Given the description of an element on the screen output the (x, y) to click on. 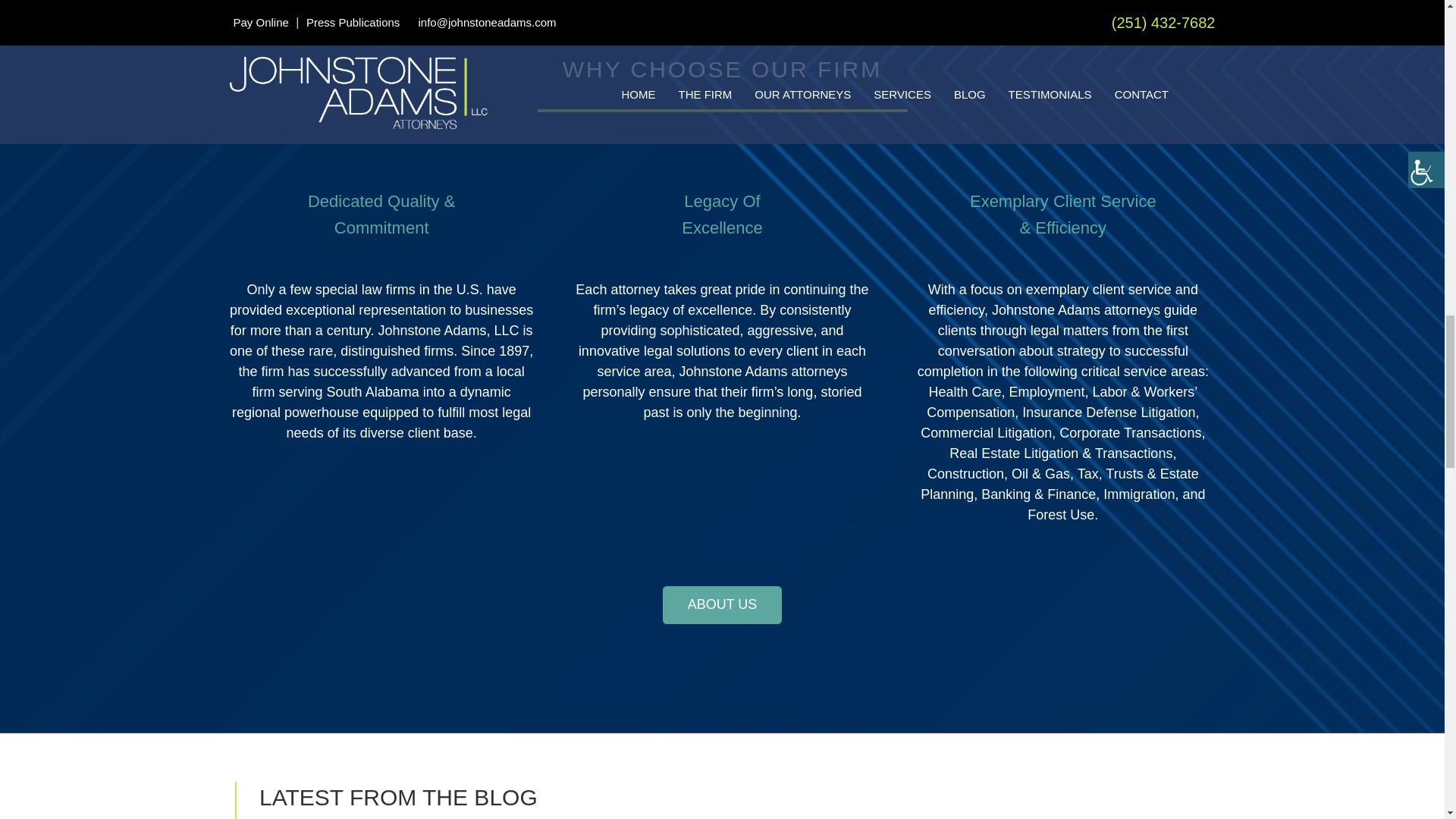
The Firm (721, 605)
